Given the description of an element on the screen output the (x, y) to click on. 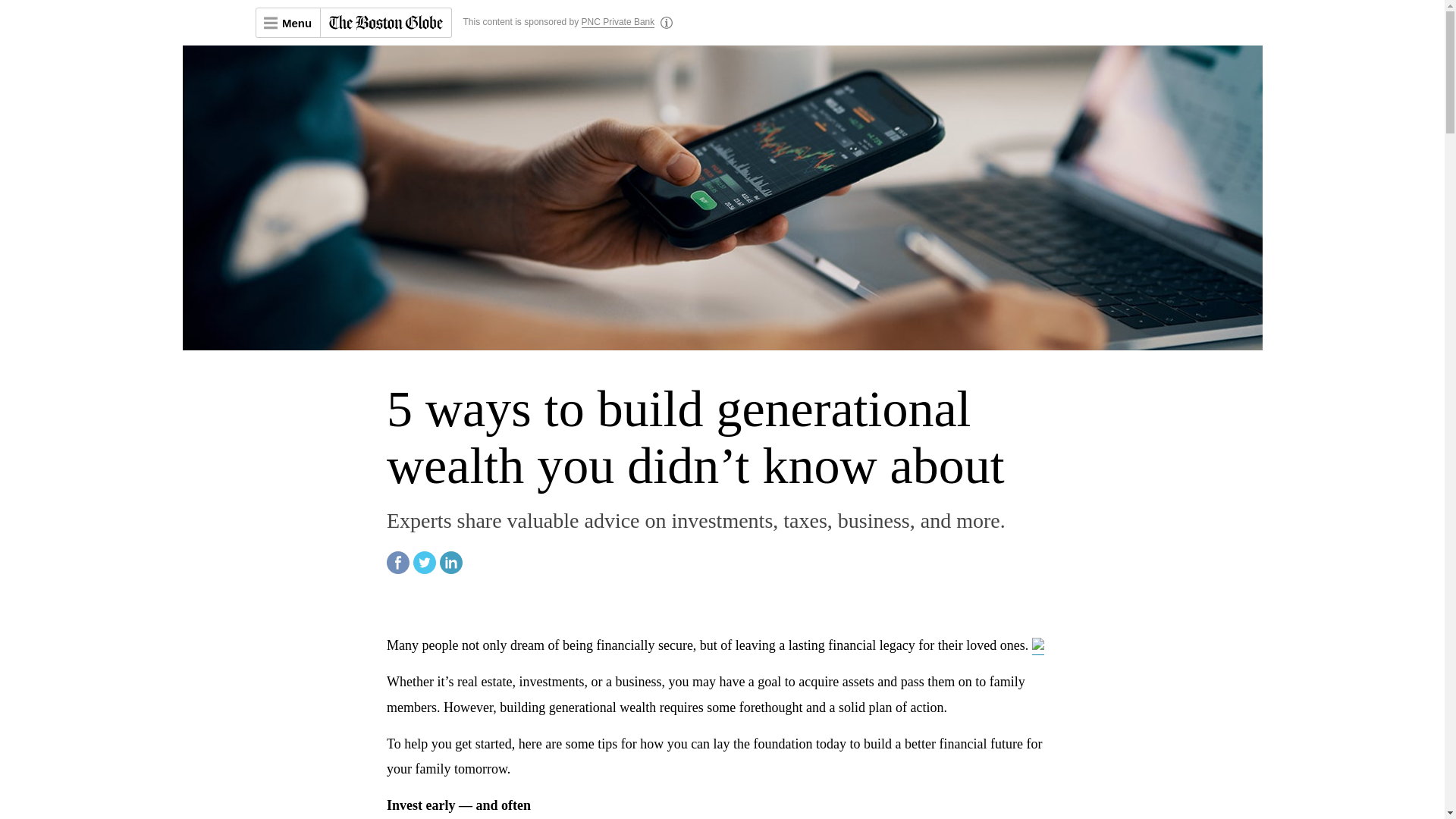
Menu (287, 22)
Share on Facebook (398, 569)
PNC Private Bank (617, 22)
Share on LinkedIn (451, 569)
Share on Twitter (424, 569)
